Given the description of an element on the screen output the (x, y) to click on. 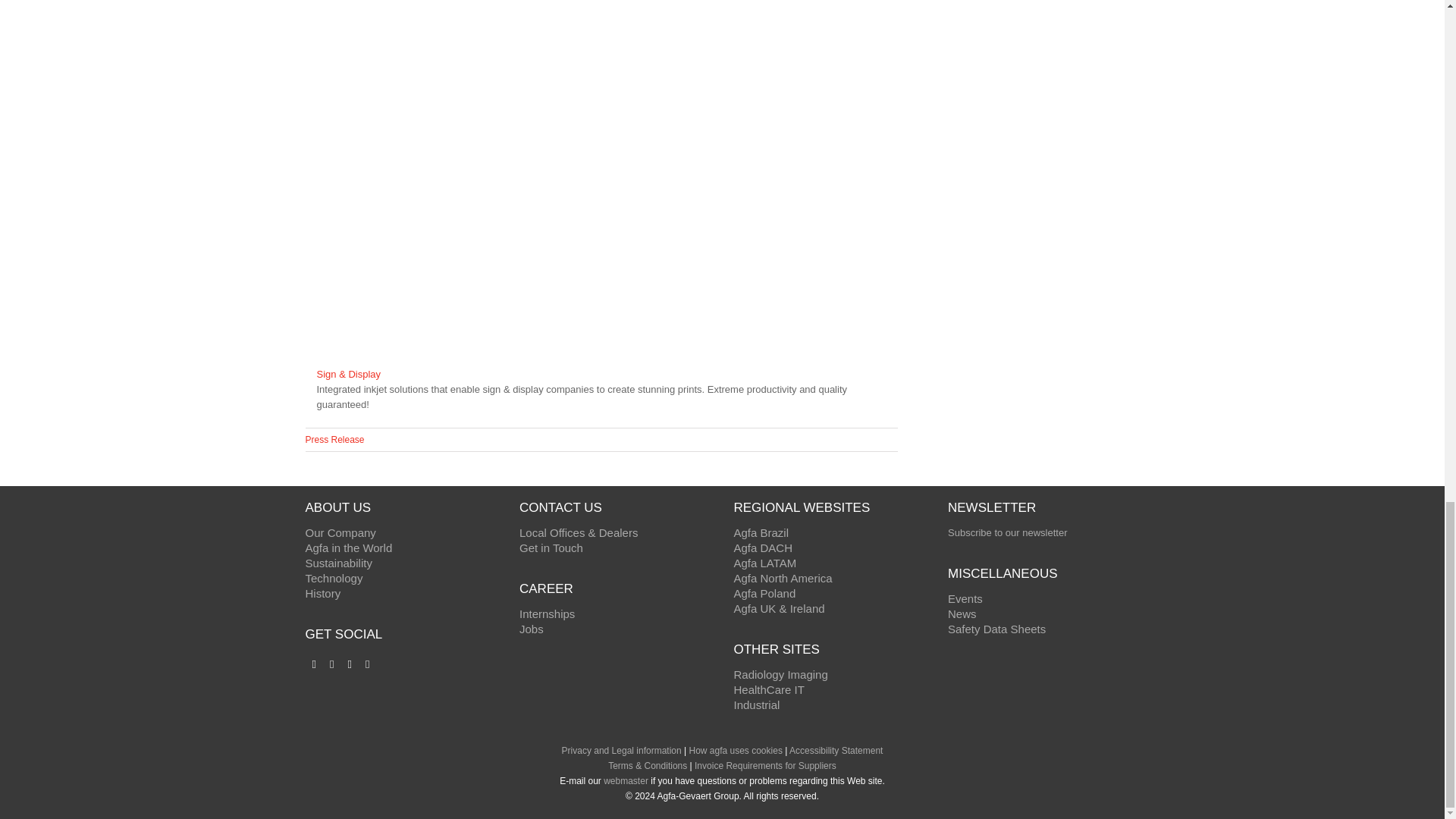
Press Release (334, 439)
